Given the description of an element on the screen output the (x, y) to click on. 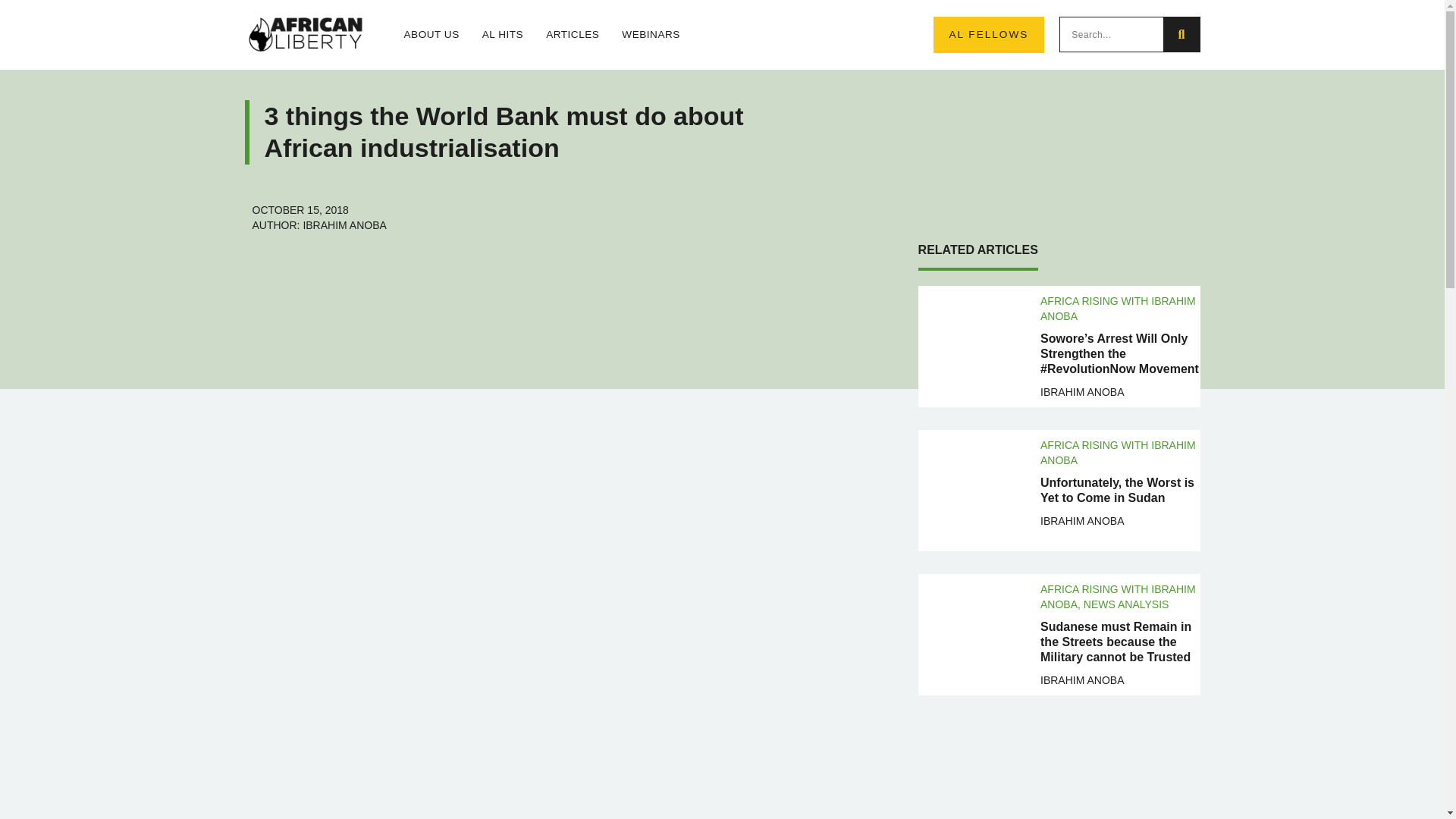
ABOUT US (430, 34)
OCTOBER 15, 2018 (299, 209)
AL FELLOWS (988, 34)
WEBINARS (650, 34)
AL HITS (501, 34)
AUTHOR: IBRAHIM ANOBA (318, 224)
ARTICLES (572, 34)
